Given the description of an element on the screen output the (x, y) to click on. 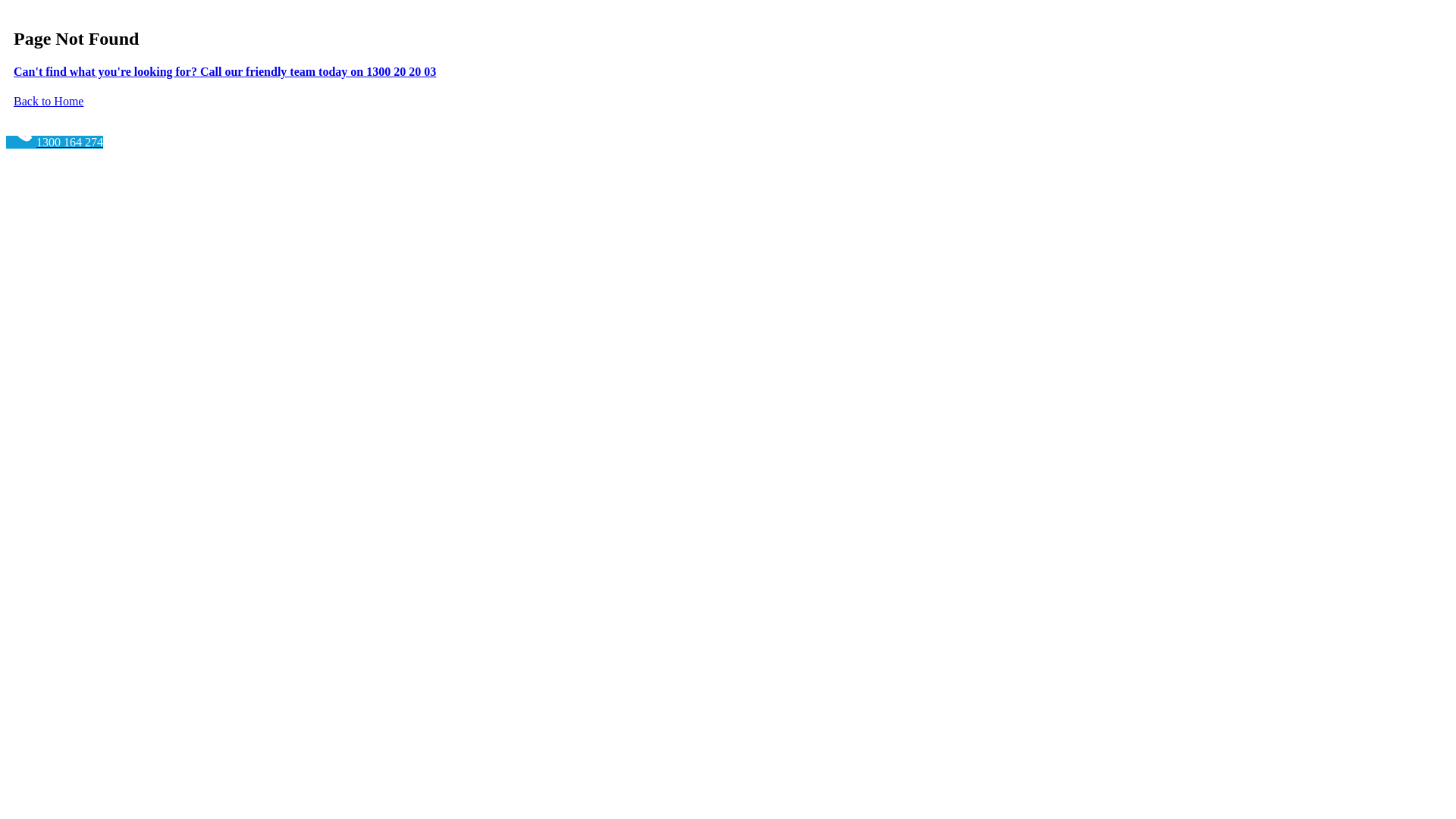
1300 164 274 Element type: text (54, 141)
Back to Home Element type: text (48, 100)
Skip to content Element type: text (5, 5)
